Given the description of an element on the screen output the (x, y) to click on. 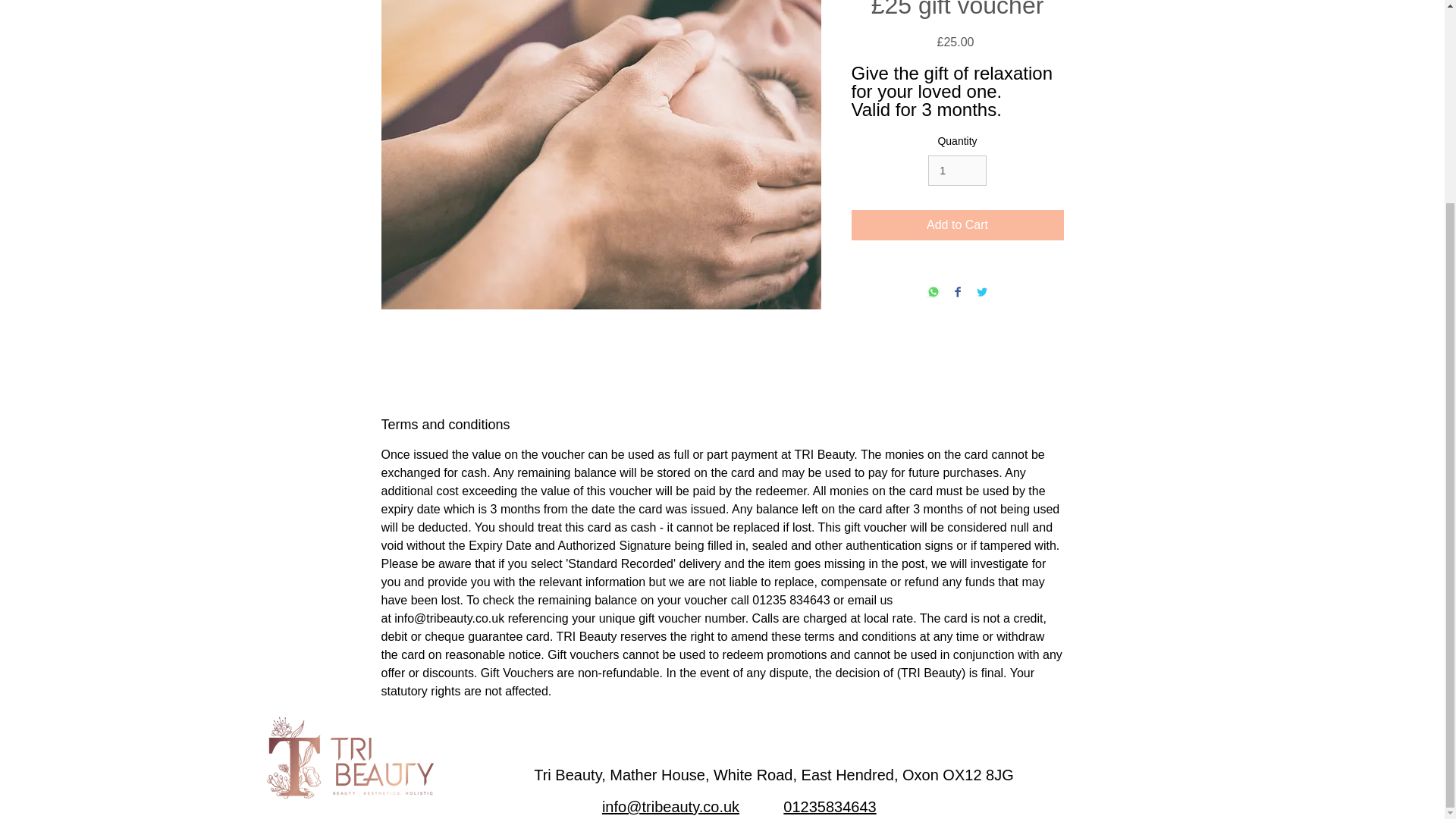
1 (956, 170)
